Given the description of an element on the screen output the (x, y) to click on. 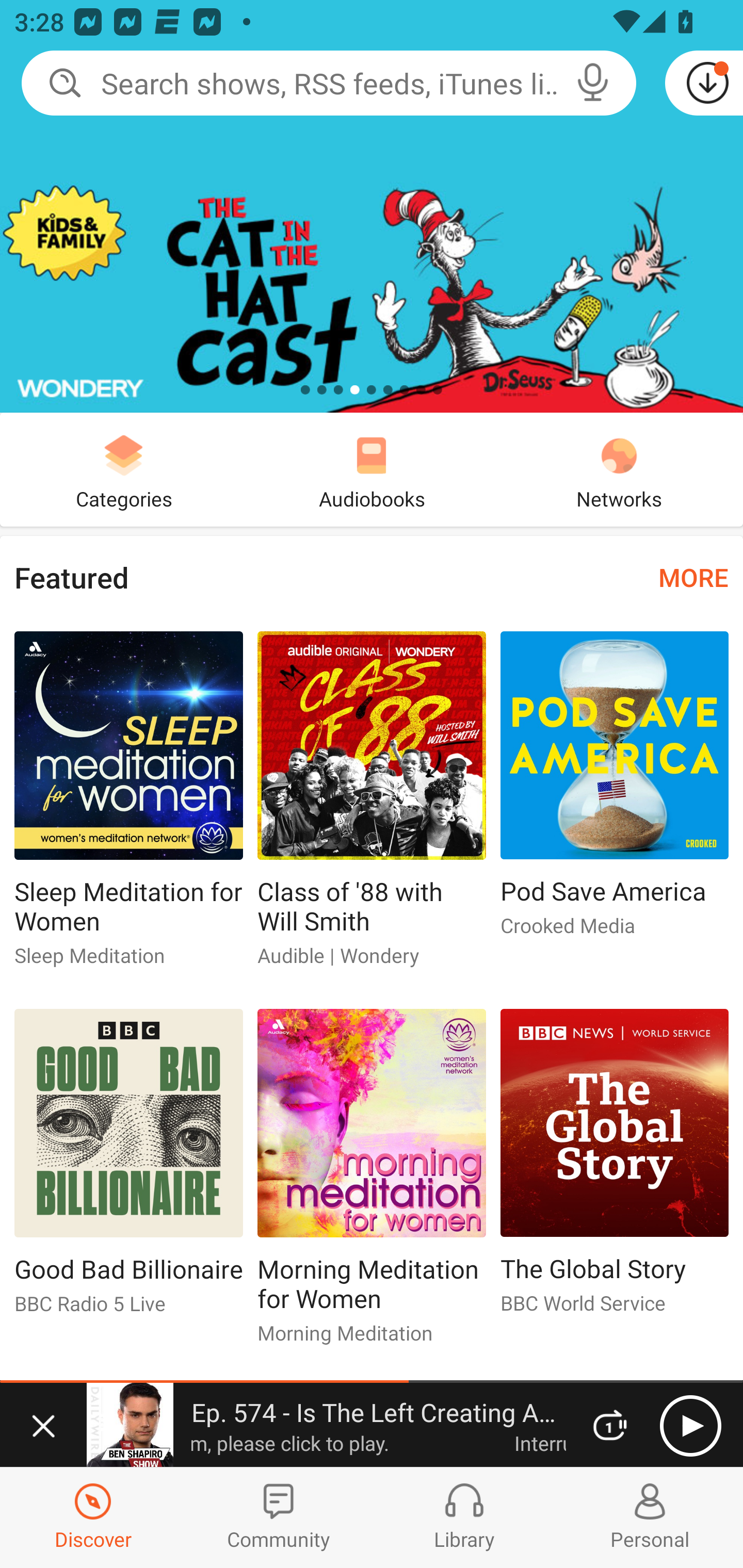
The Cat In The Hat Cast (371, 206)
Categories (123, 469)
Audiobooks (371, 469)
Networks (619, 469)
MORE (693, 576)
Pod Save America Pod Save America Crooked Media (614, 792)
Play (690, 1425)
Discover (92, 1517)
Community (278, 1517)
Library (464, 1517)
Profiles and Settings Personal (650, 1517)
